Given the description of an element on the screen output the (x, y) to click on. 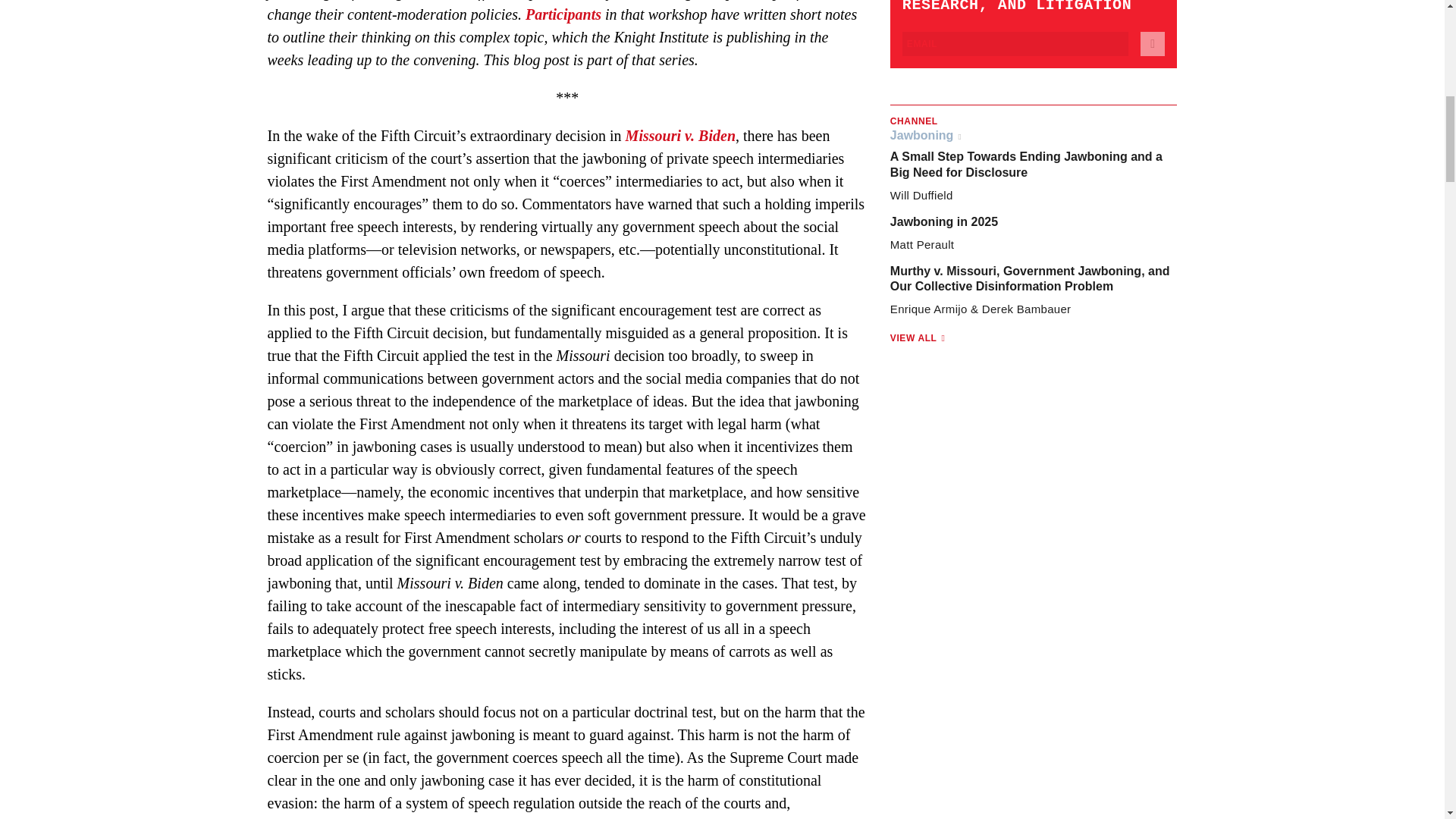
Participants (563, 13)
Missouri v. Biden (680, 135)
